Given the description of an element on the screen output the (x, y) to click on. 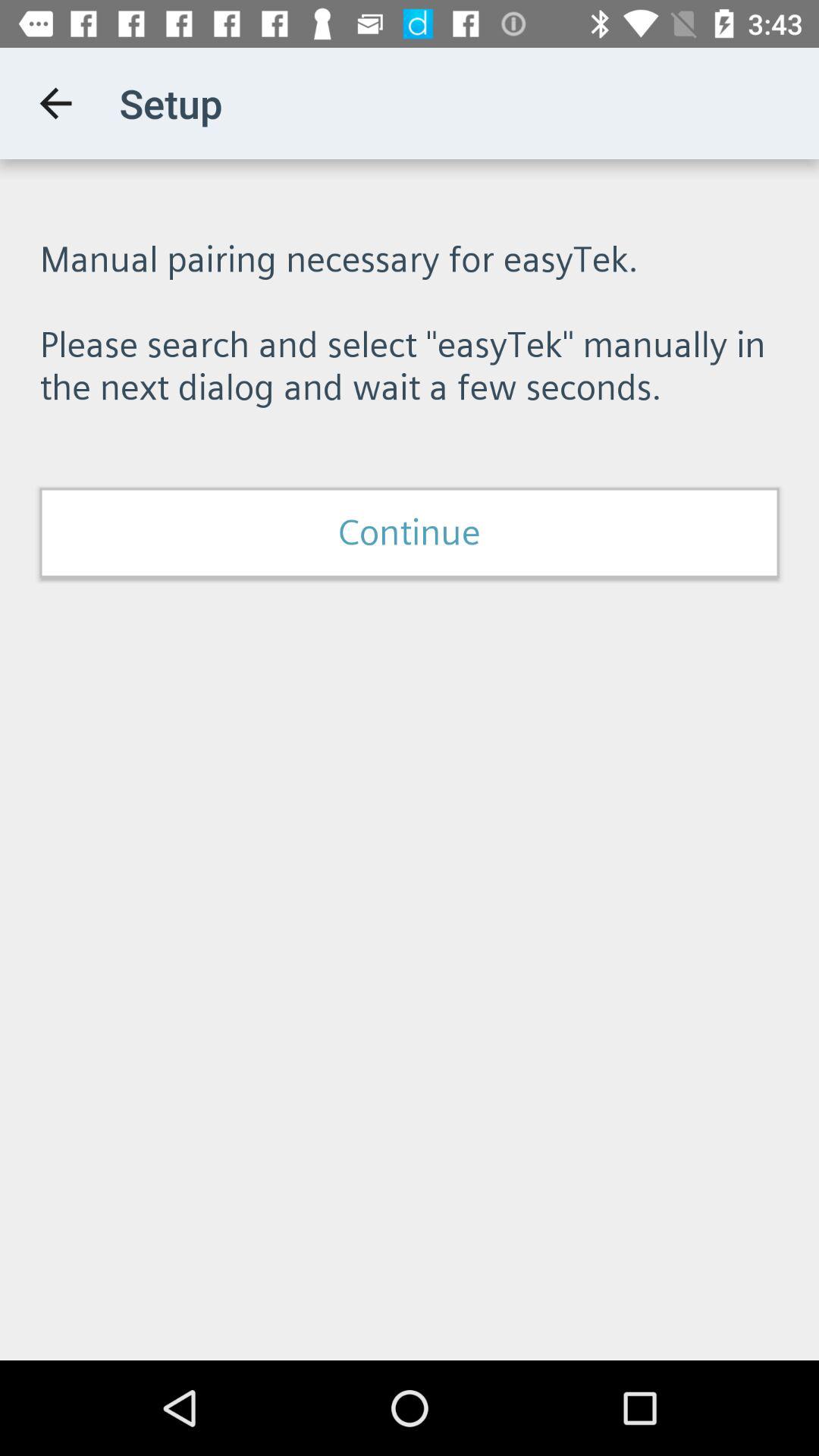
press icon below the manual pairing necessary item (409, 532)
